Given the description of an element on the screen output the (x, y) to click on. 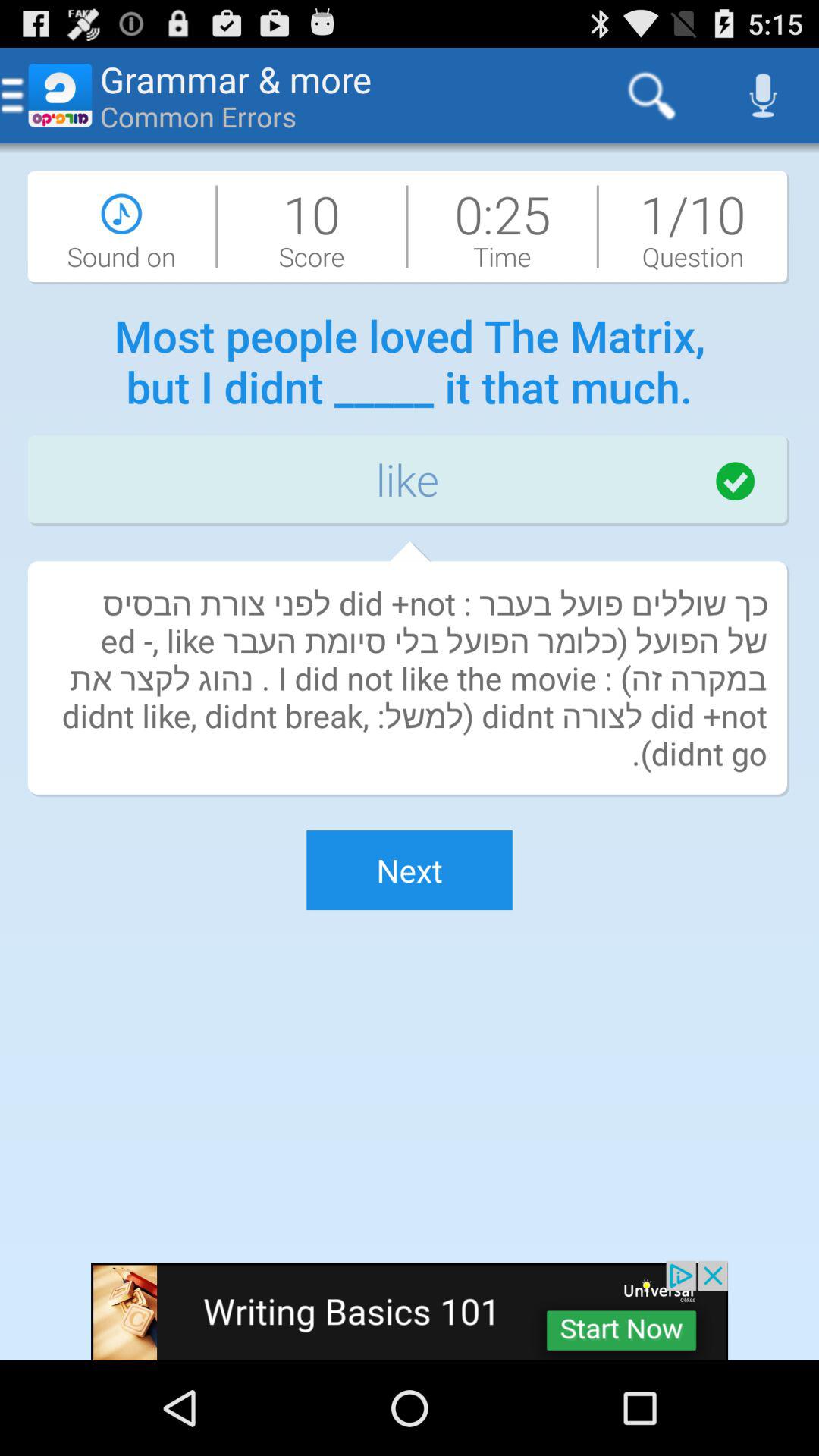
go to link (409, 1310)
